Given the description of an element on the screen output the (x, y) to click on. 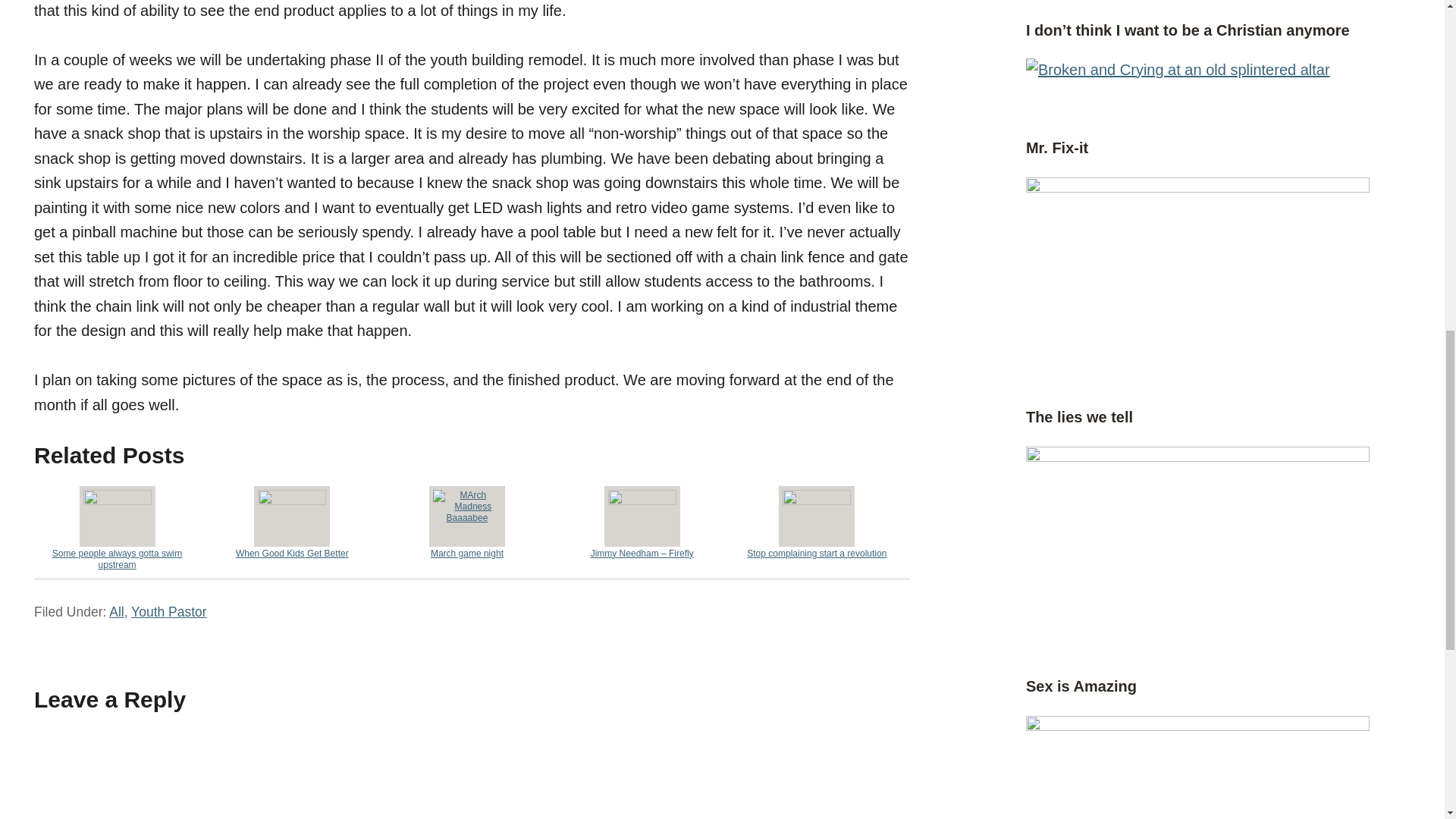
The lies we tell (1198, 455)
Permanent Link toMarch game night (467, 521)
Some people always gotta swim upstream (116, 527)
Stop complaining start a revolution (816, 521)
Mr. Fix-it (1198, 187)
All (116, 611)
Comment Form (470, 773)
Sex is Amazing (1081, 686)
Permanent Link toStop complaining start a revolution (816, 521)
The lies we tell (1079, 416)
Permanent Link toSome people always gotta swim upstream (116, 527)
Permanent Link toWhen Good Kids Get Better (292, 521)
March game night (467, 521)
When Good Kids Get Better (292, 521)
Youth Pastor (168, 611)
